Given the description of an element on the screen output the (x, y) to click on. 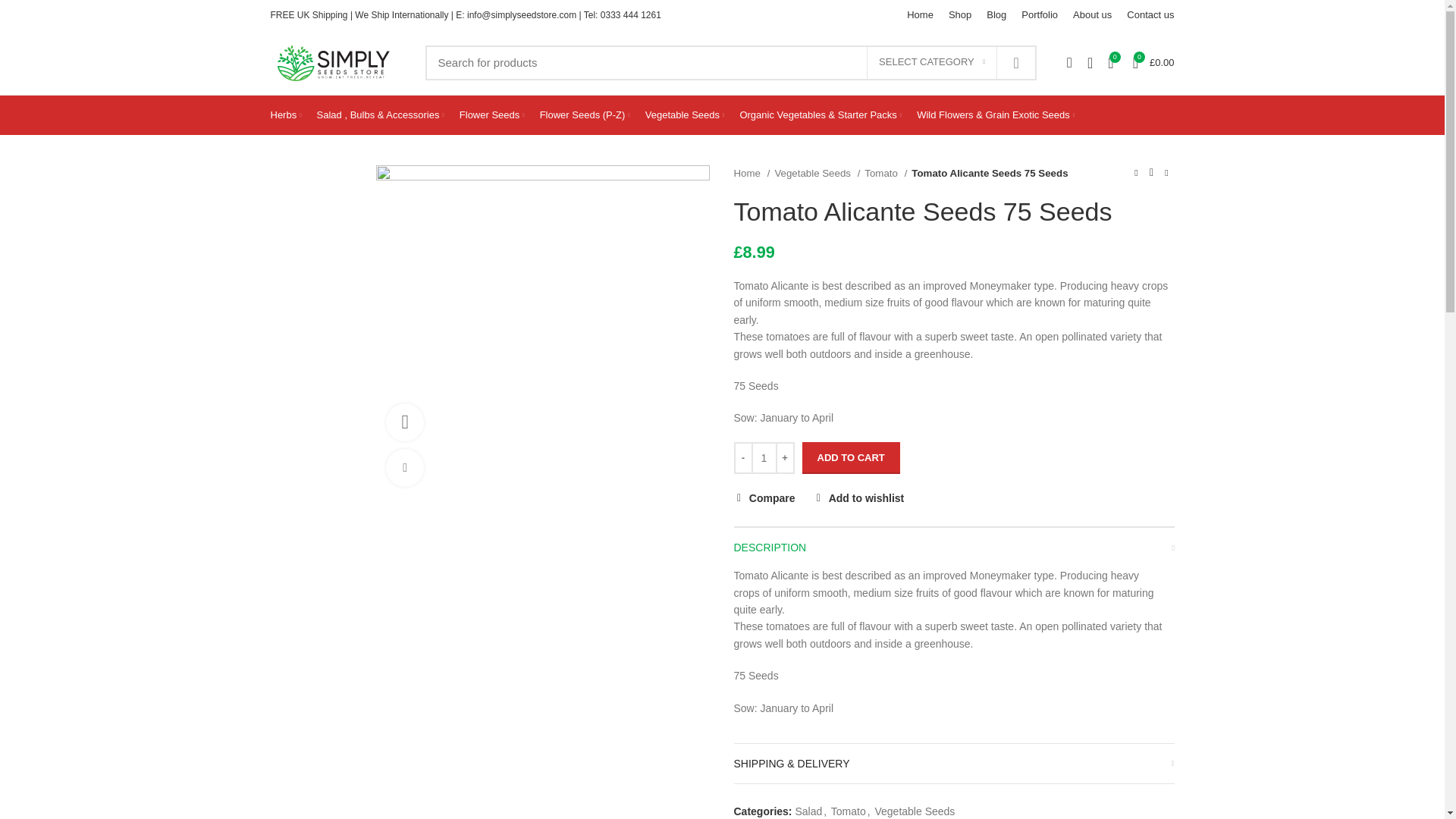
Shop (959, 15)
Blog (995, 15)
5 (542, 331)
Shopping cart (1153, 61)
SELECT CATEGORY (931, 62)
About us (1092, 15)
Home (919, 15)
Portfolio (1039, 15)
